Given the description of an element on the screen output the (x, y) to click on. 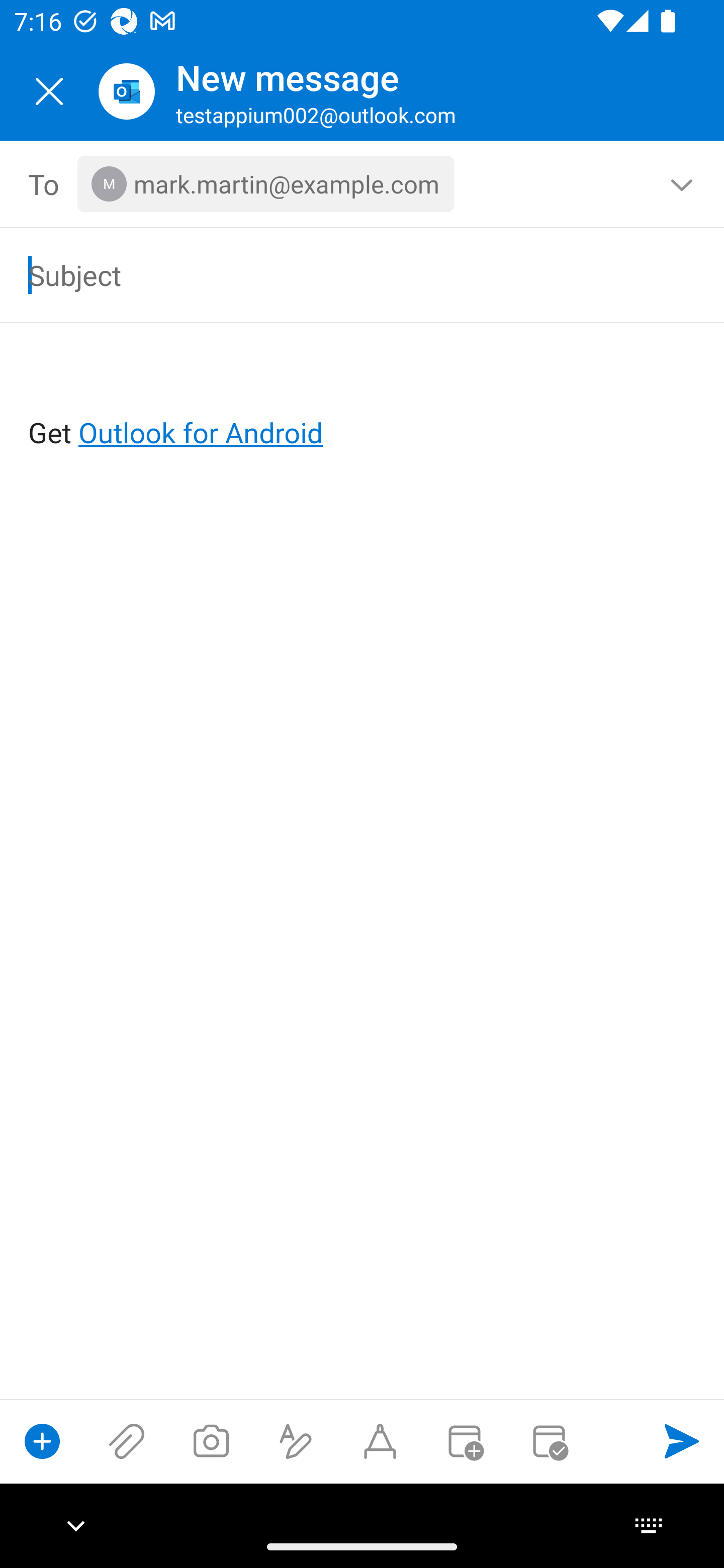
Close (49, 91)
To, 1 recipient <mark.martin@example.com> (362, 184)
Subject (333, 274)


Get Outlook for Android (363, 400)
Show compose options (42, 1440)
Attach files (126, 1440)
Take a photo (210, 1440)
Show formatting options (295, 1440)
Start Ink compose (380, 1440)
Convert to event (464, 1440)
Send availability (548, 1440)
Send (681, 1440)
